Given the description of an element on the screen output the (x, y) to click on. 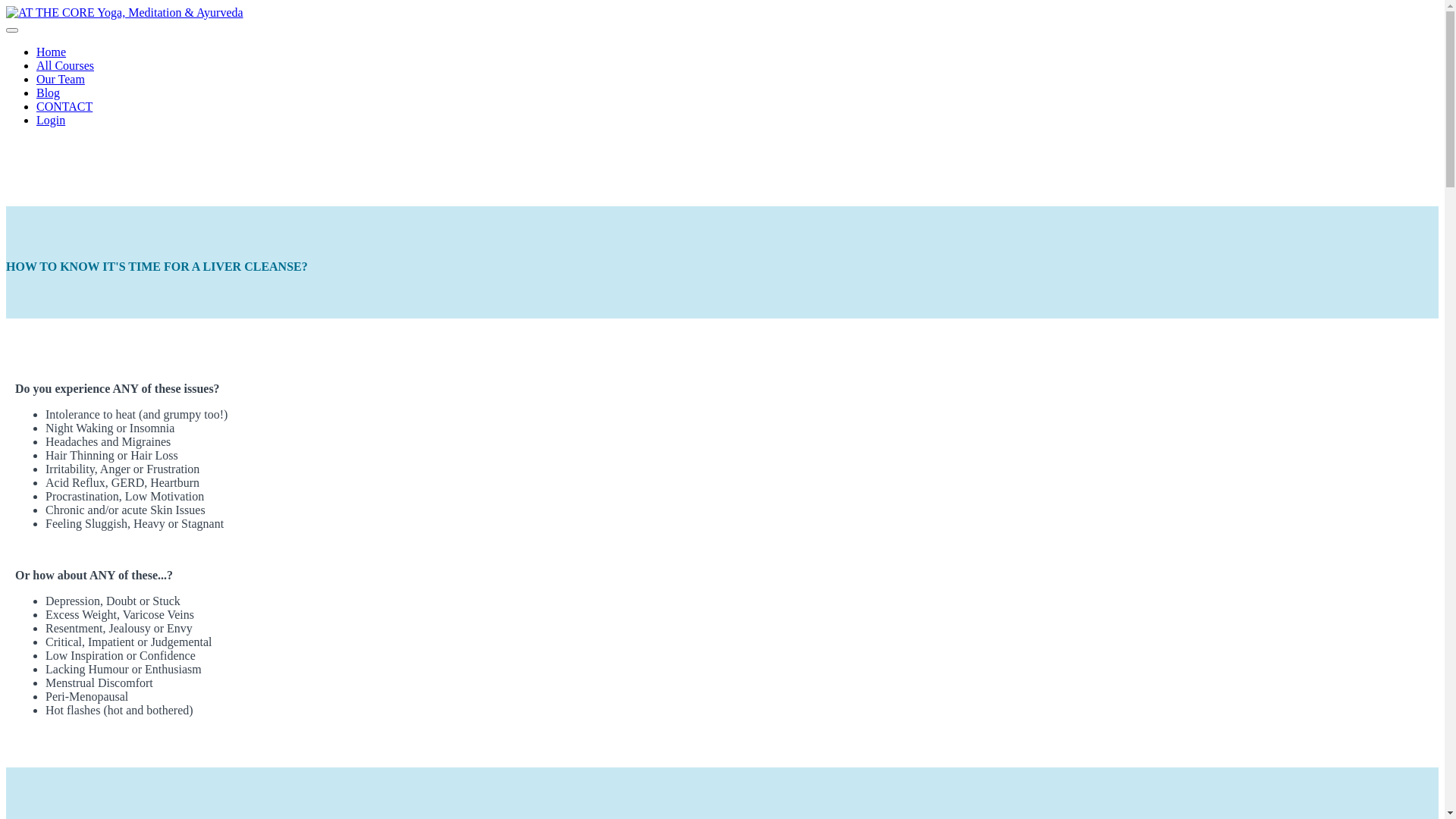
All Courses Element type: text (65, 65)
Our Team Element type: text (60, 78)
Blog Element type: text (47, 92)
Login Element type: text (50, 119)
CONTACT Element type: text (64, 106)
Home Element type: text (50, 51)
